Given the description of an element on the screen output the (x, y) to click on. 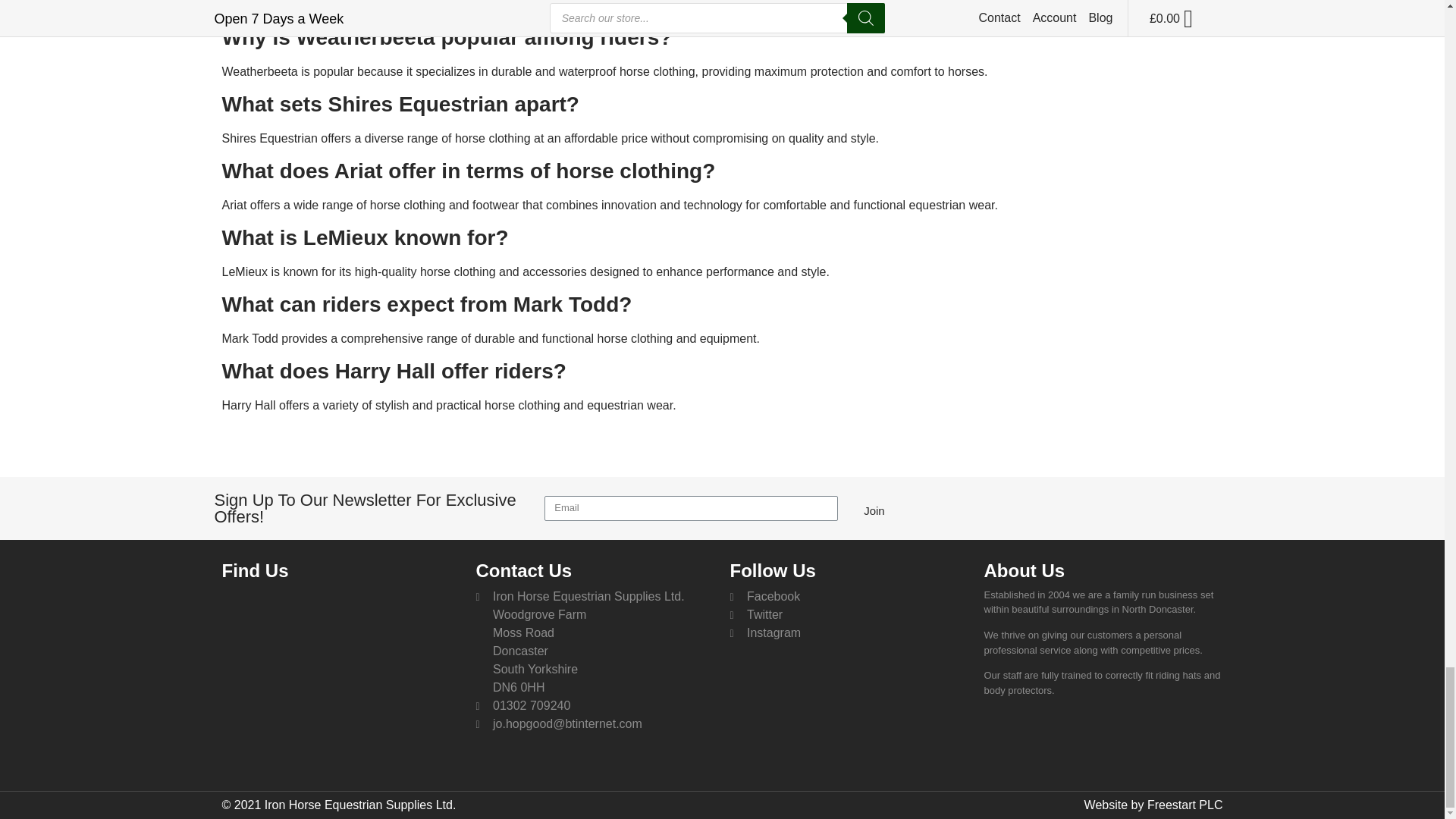
DN6 0HH (340, 671)
